Given the description of an element on the screen output the (x, y) to click on. 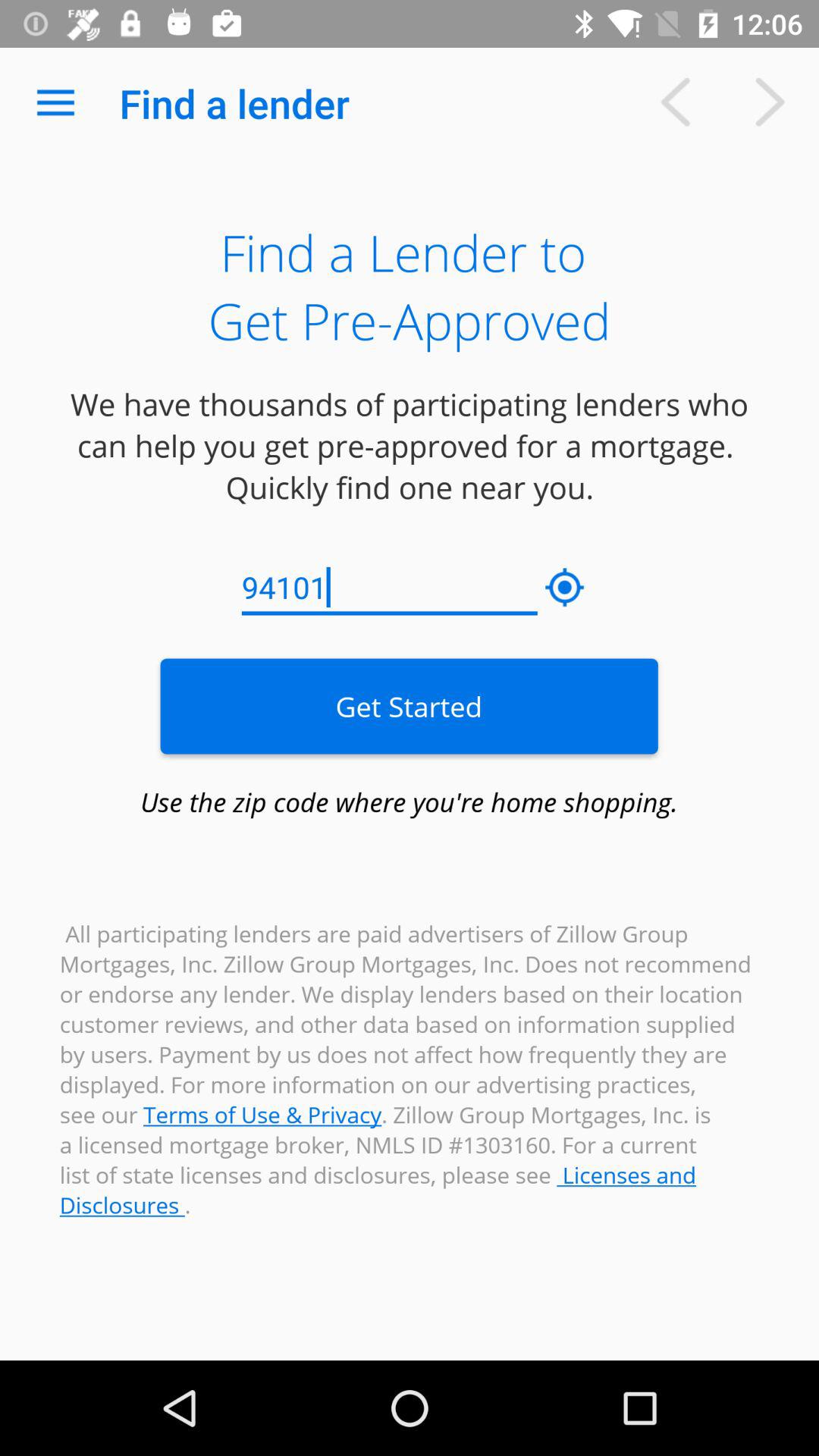
open item above the we have thousands item (55, 103)
